Given the description of an element on the screen output the (x, y) to click on. 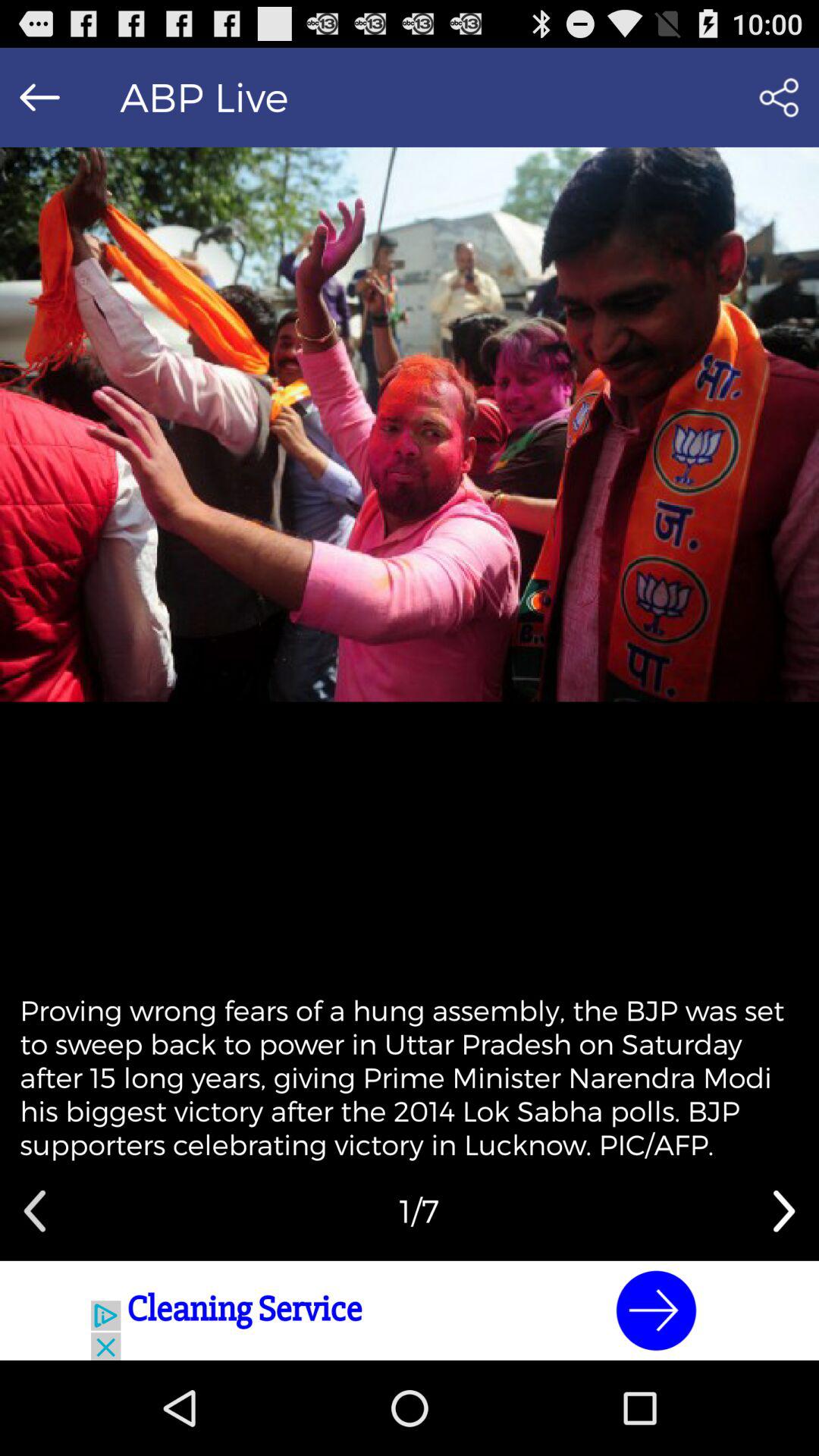
go back (34, 1211)
